Given the description of an element on the screen output the (x, y) to click on. 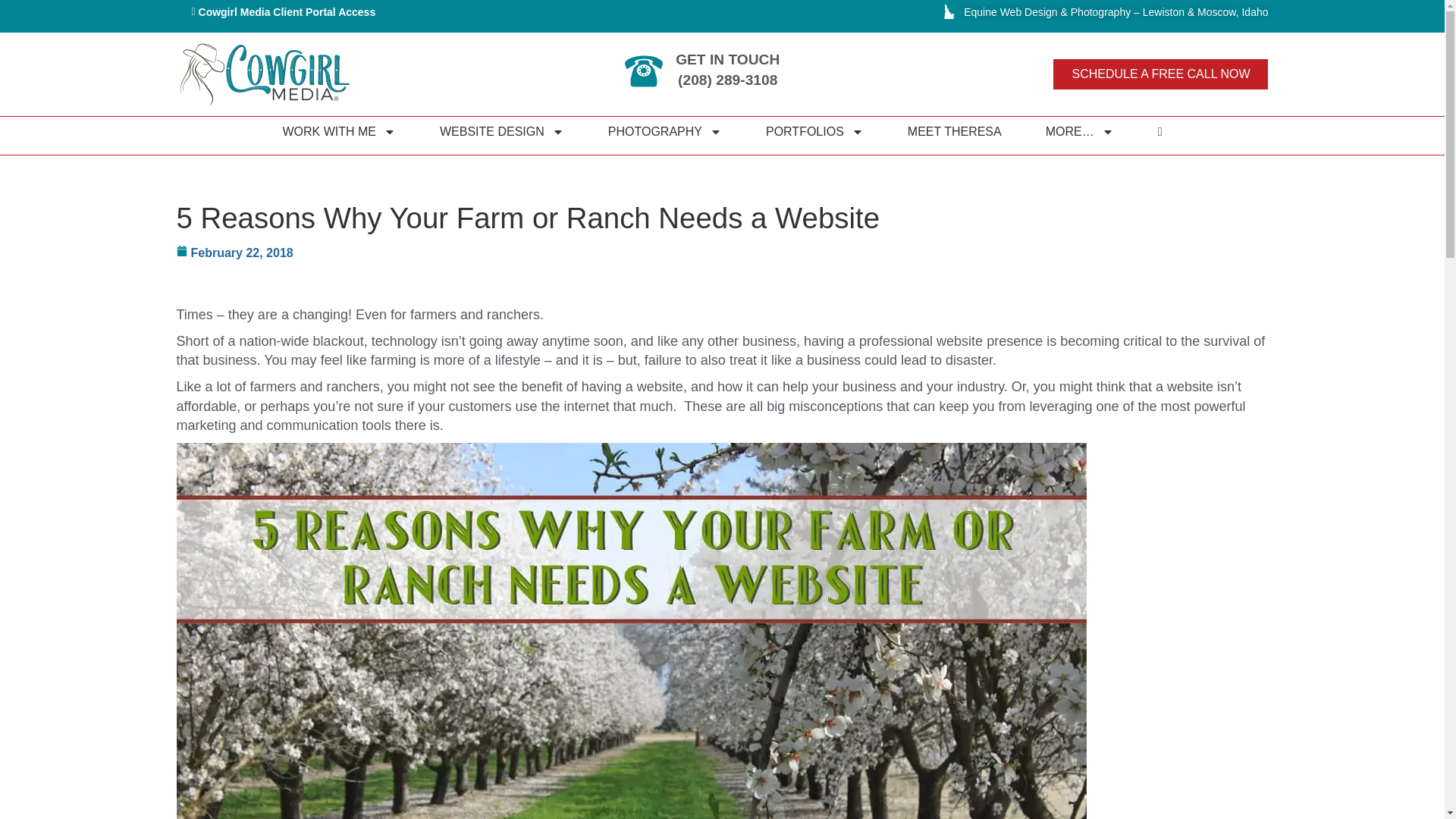
Meet the Team (954, 131)
WORK WITH ME (338, 131)
SCHEDULE A FREE CALL NOW (1160, 73)
PORTFOLIOS (815, 131)
 Cowgirl Media Client Portal Access (283, 12)
MEET THERESA (954, 131)
WEBSITE DESIGN (502, 131)
PHOTOGRAPHY (664, 131)
Portfolios (815, 131)
